Given the description of an element on the screen output the (x, y) to click on. 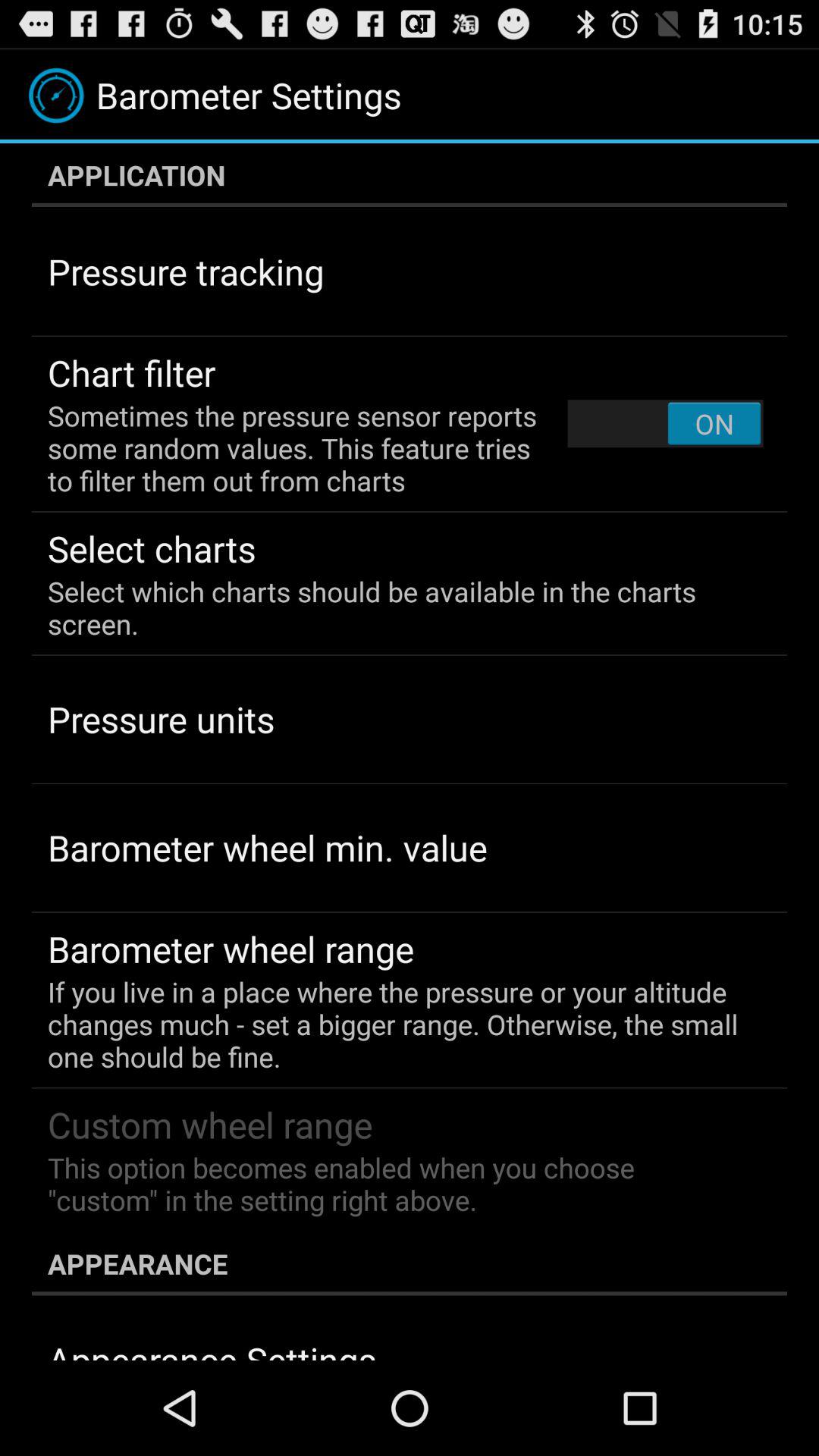
open the icon below the appearance item (211, 1347)
